Given the description of an element on the screen output the (x, y) to click on. 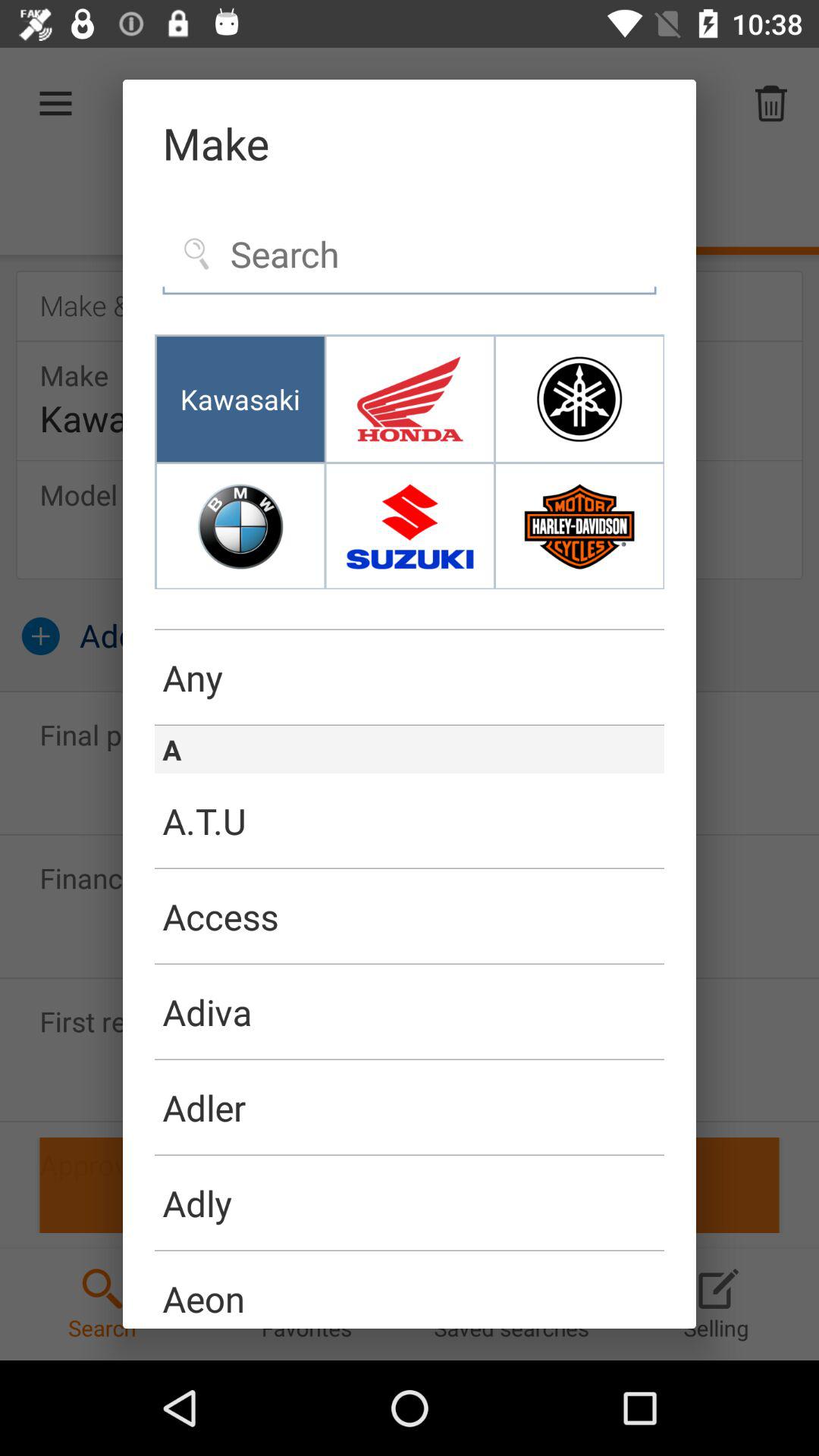
swipe to aeon item (409, 1289)
